Given the description of an element on the screen output the (x, y) to click on. 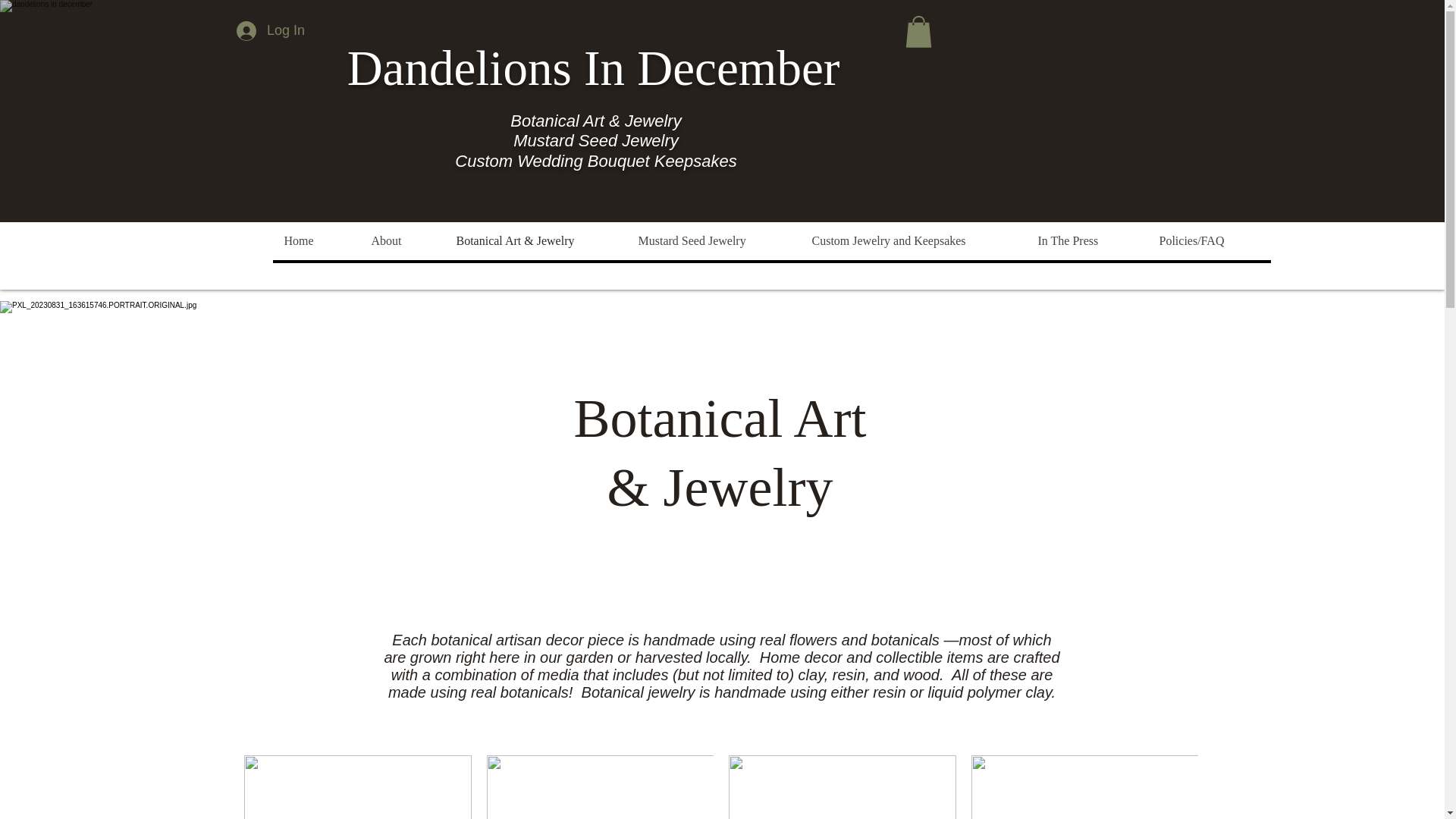
Log In (270, 30)
Custom Jewelry and Keepsakes (912, 240)
Home (316, 240)
Mustard Seed Jewelry (712, 240)
In The Press (1086, 240)
About (401, 240)
